Given the description of an element on the screen output the (x, y) to click on. 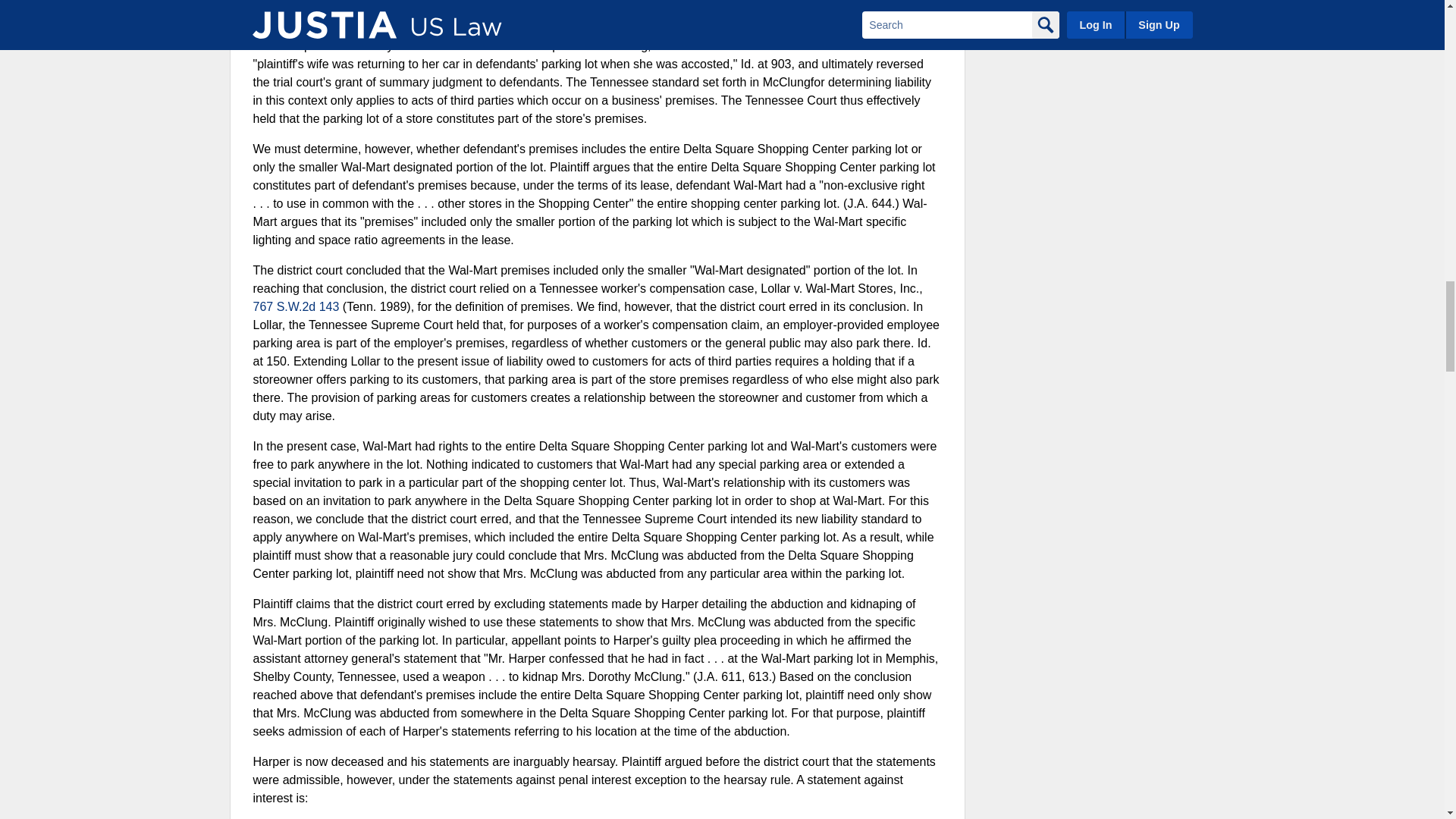
767 S.W.2d 143 (296, 306)
